Given the description of an element on the screen output the (x, y) to click on. 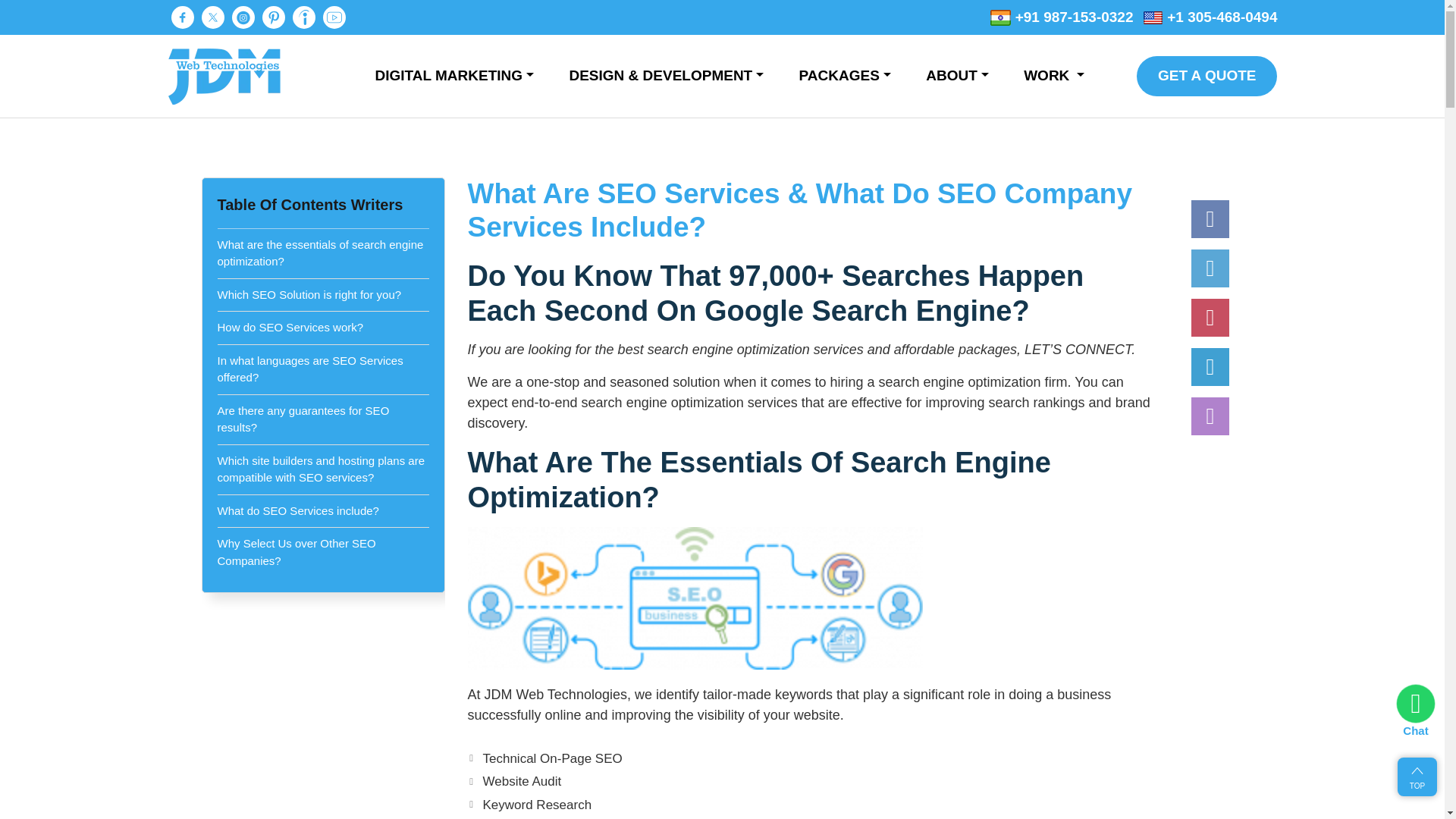
JDM Web Technologies (224, 75)
India (1000, 17)
United States (1152, 17)
DIGITAL MARKETING (453, 76)
